Given the description of an element on the screen output the (x, y) to click on. 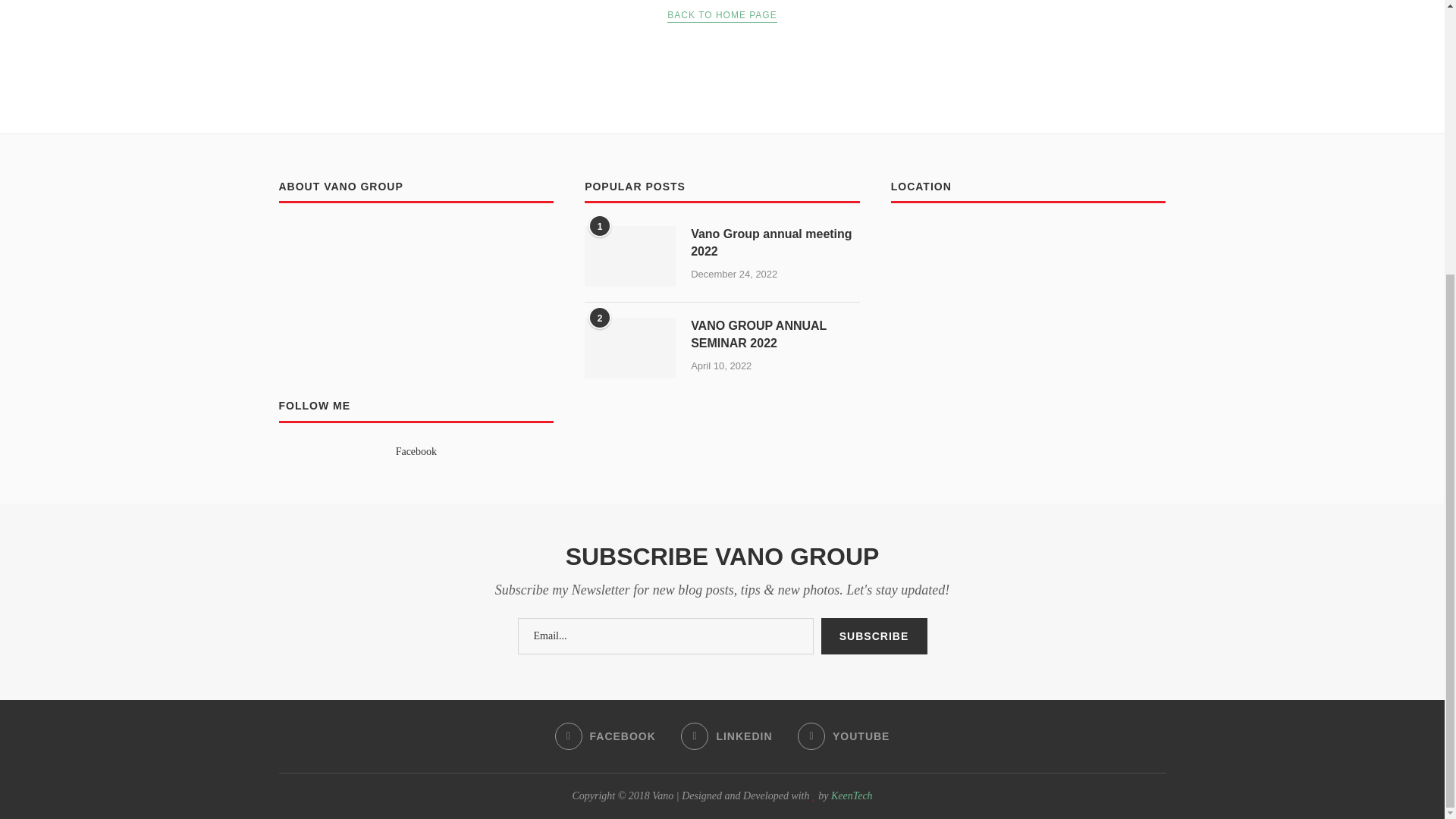
Subscribe (873, 636)
Vano Group annual meeting 2022 (630, 256)
Subscribe (873, 636)
FACEBOOK (605, 736)
Vano Group annual meeting 2022 (775, 243)
Vano Group annual meeting 2022 (775, 243)
Facebook (416, 451)
VANO GROUP ANNUAL SEMINAR 2022 (775, 334)
LINKEDIN (726, 736)
BACK TO HOME PAGE (721, 15)
VANO GROUP ANNUAL SEMINAR 2022 (630, 347)
VANO GROUP ANNUAL SEMINAR 2022 (775, 334)
